Given the description of an element on the screen output the (x, y) to click on. 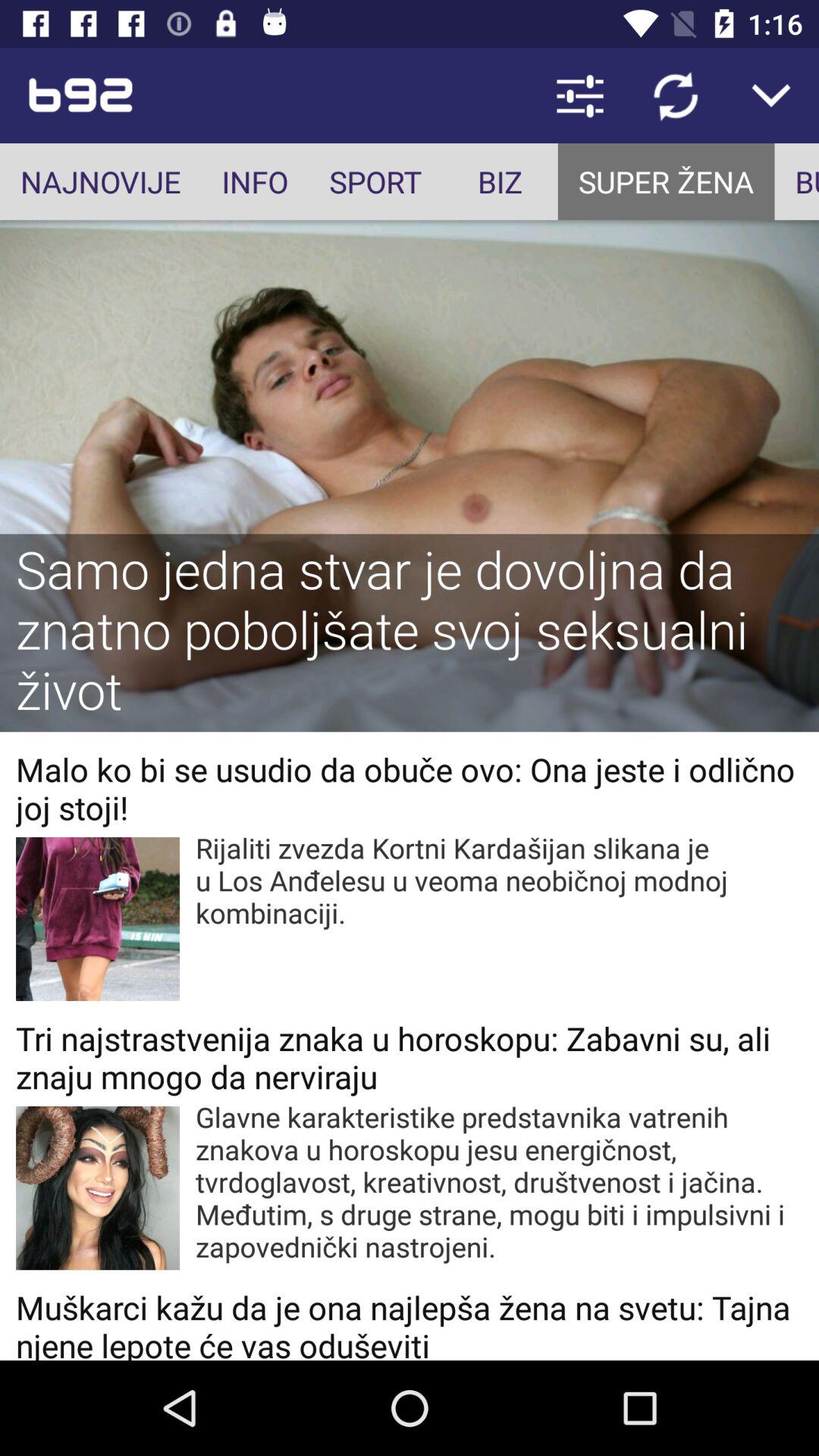
open glavne karakteristike predstavnika app (499, 1181)
